Given the description of an element on the screen output the (x, y) to click on. 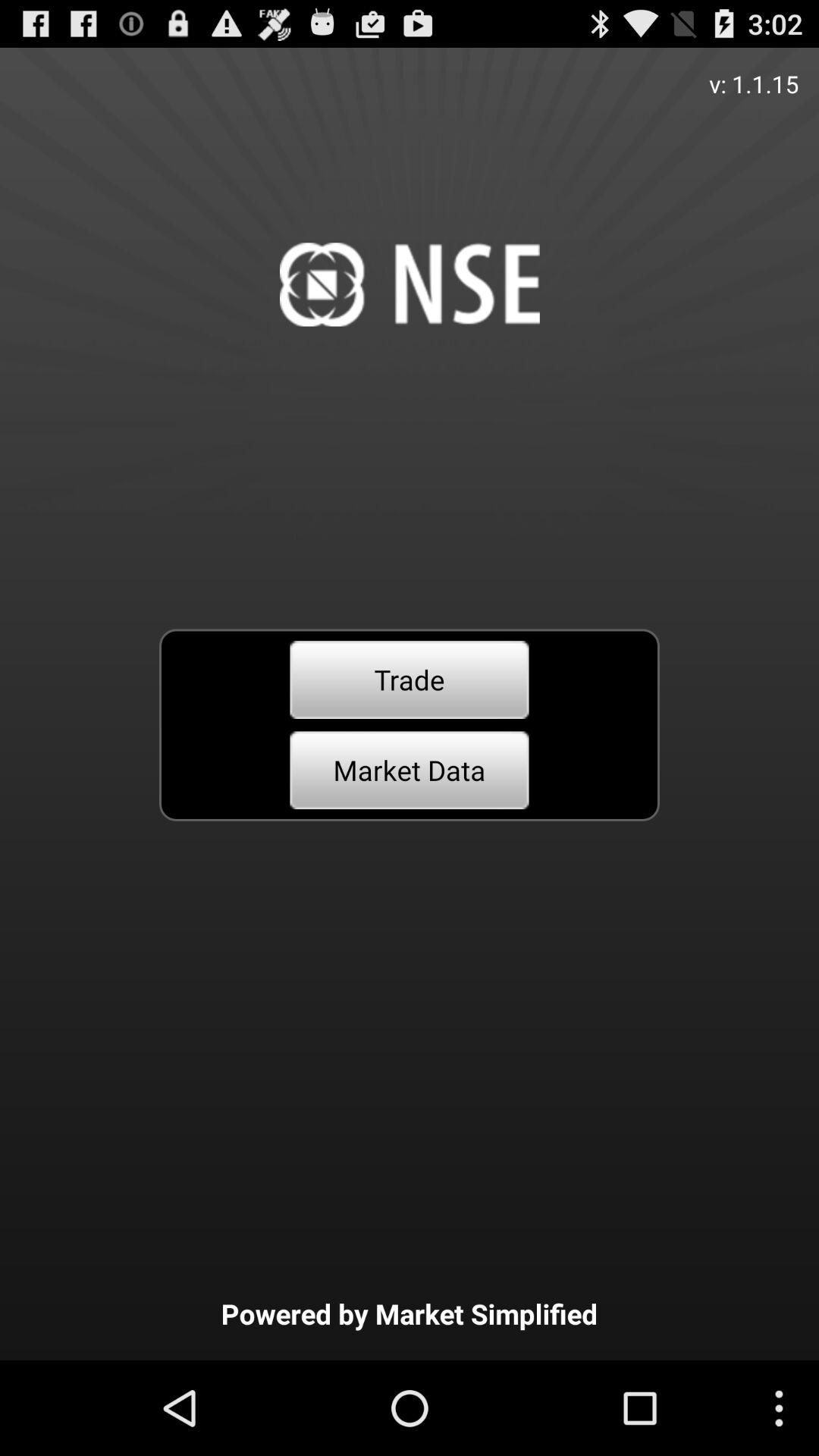
select the trade (409, 679)
